Given the description of an element on the screen output the (x, y) to click on. 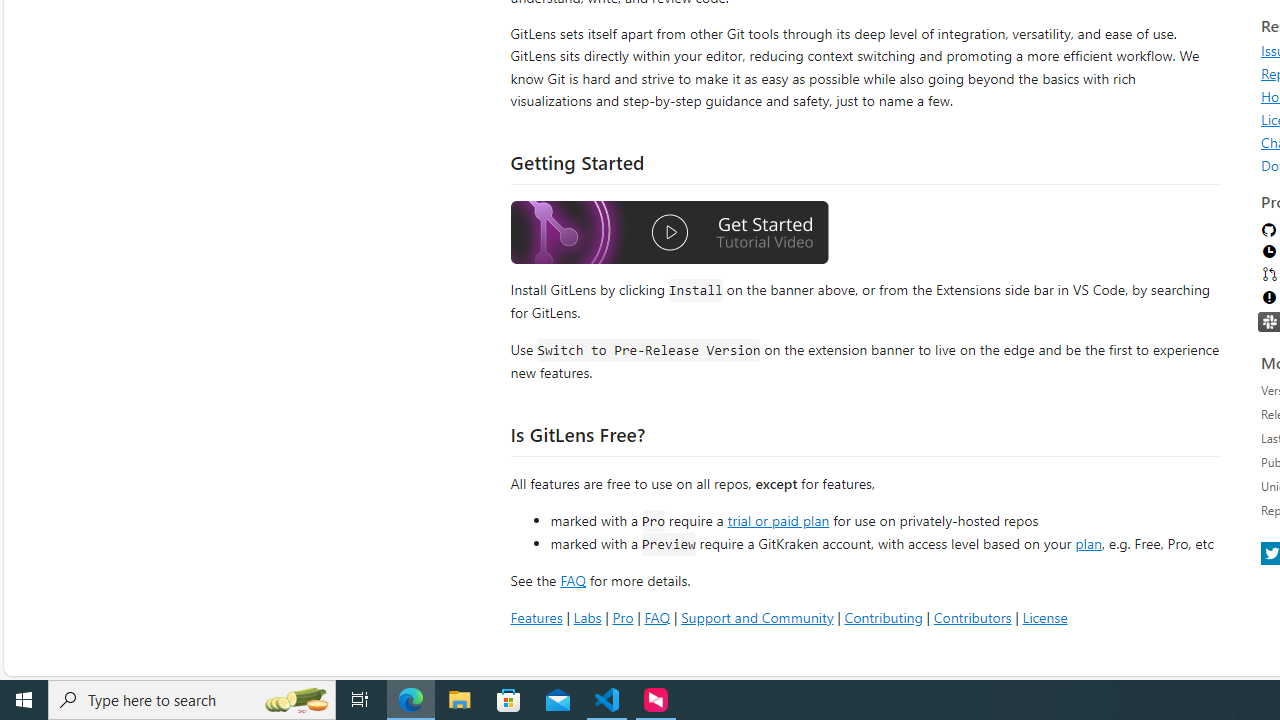
Watch the GitLens Getting Started video (669, 232)
Labs (587, 616)
Watch the GitLens Getting Started video (669, 235)
Pro (622, 616)
Support and Community (757, 616)
Contributing (882, 616)
trial or paid plan (778, 519)
Contributors (972, 616)
FAQ (656, 616)
License (1044, 616)
Features (536, 616)
plan (1088, 543)
